Given the description of an element on the screen output the (x, y) to click on. 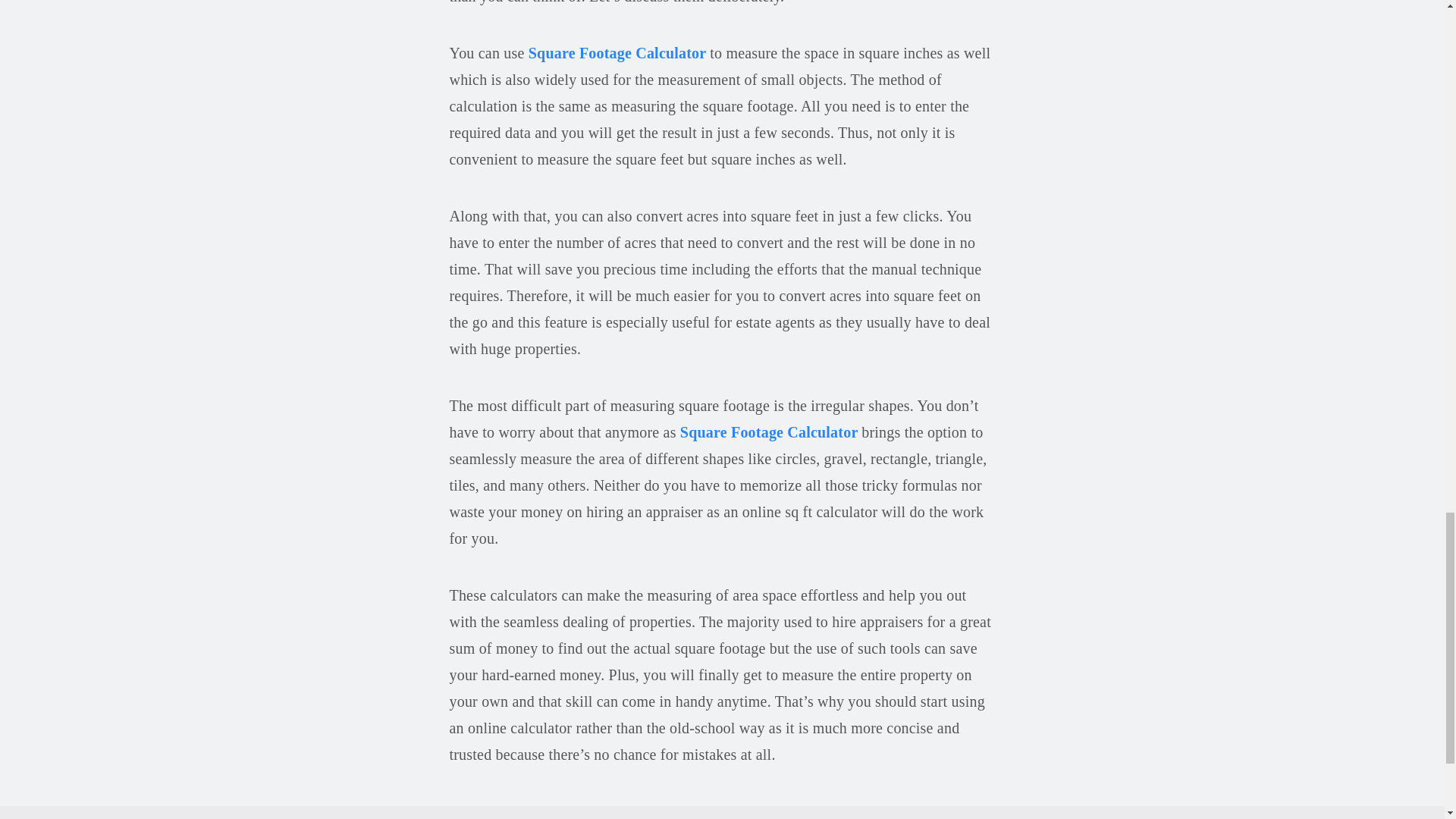
Square Footage Calculator (770, 432)
Square Footage Calculator (619, 53)
